Given the description of an element on the screen output the (x, y) to click on. 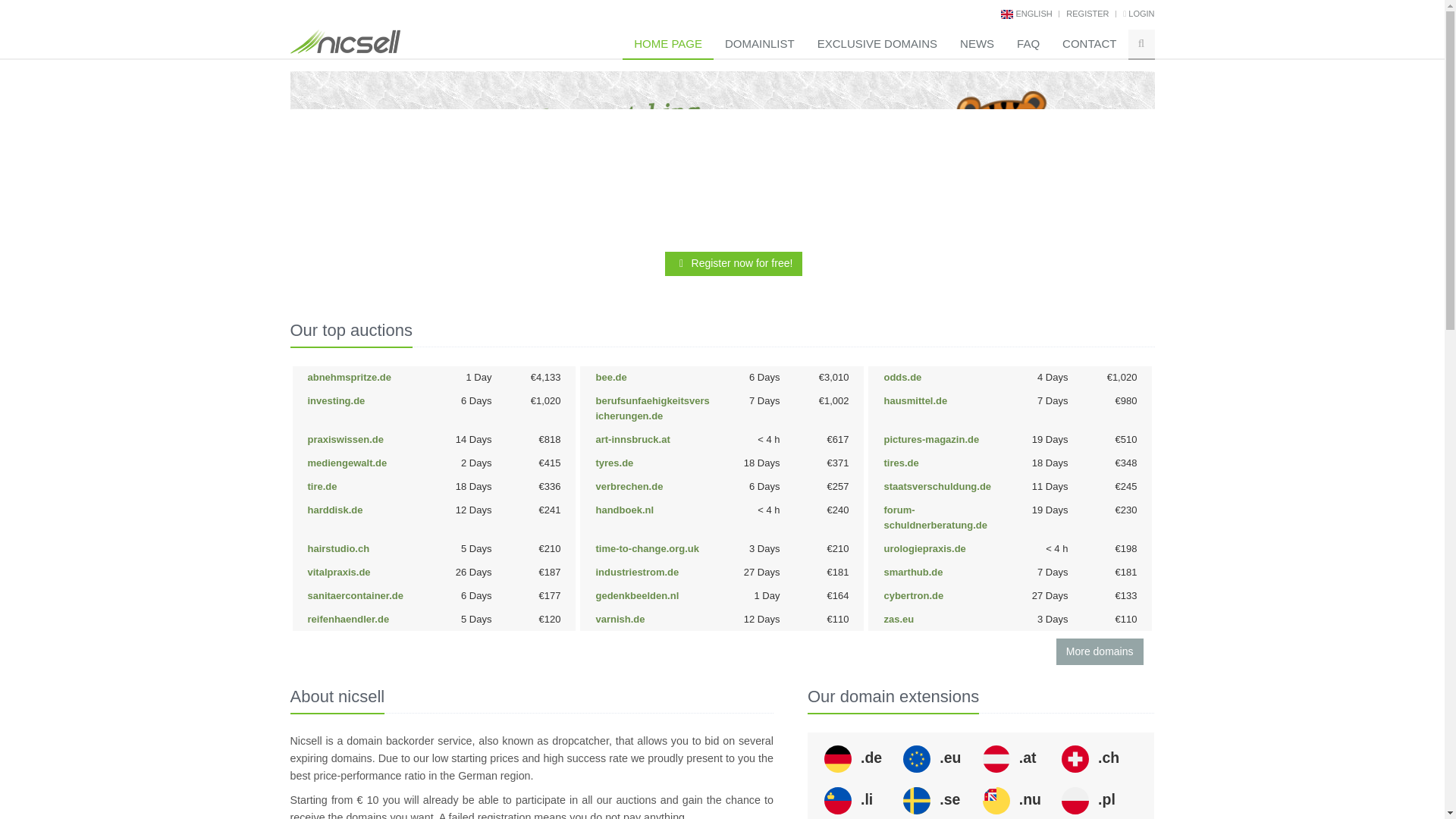
End of auction: Aug 12, 2024 8:00 PM o'clock (767, 439)
End of auction: Aug 16, 2024 8:00 PM o'clock (1051, 377)
CONTACT (1088, 44)
handboek.nl (624, 509)
pictures-magazin.de (930, 439)
investing.de (336, 400)
forum-schuldnerberatung.de (935, 517)
End of auction: Aug 26, 2024 8:00 PM o'clock (473, 439)
abnehmspritze.de (349, 377)
tire.de (322, 486)
